Given the description of an element on the screen output the (x, y) to click on. 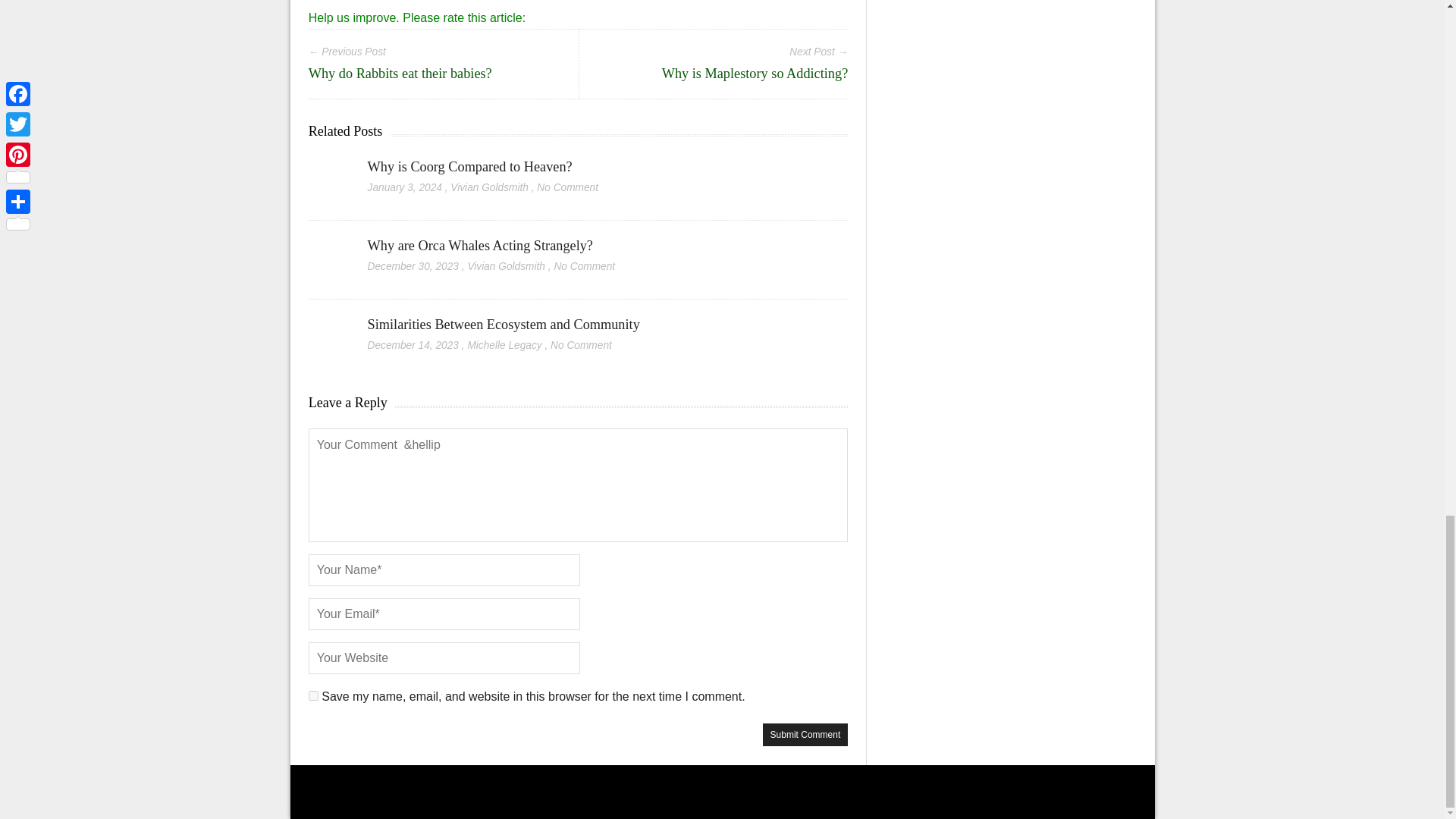
Why is Coorg Compared to Heaven? (329, 167)
Similarities Between Ecosystem and Community (504, 324)
Why is hurricane Katrina called hurricane Katrina (395, 5)
Why are Orca Whales Acting Strangely?  (482, 245)
Vivian Goldsmith (505, 266)
Posts by Vivian Goldsmith (488, 187)
Why is ozone formed over the equator? (577, 5)
yes (313, 696)
Why is Coorg Compared to Heaven? (470, 166)
Vivian Goldsmith (488, 187)
